Given the description of an element on the screen output the (x, y) to click on. 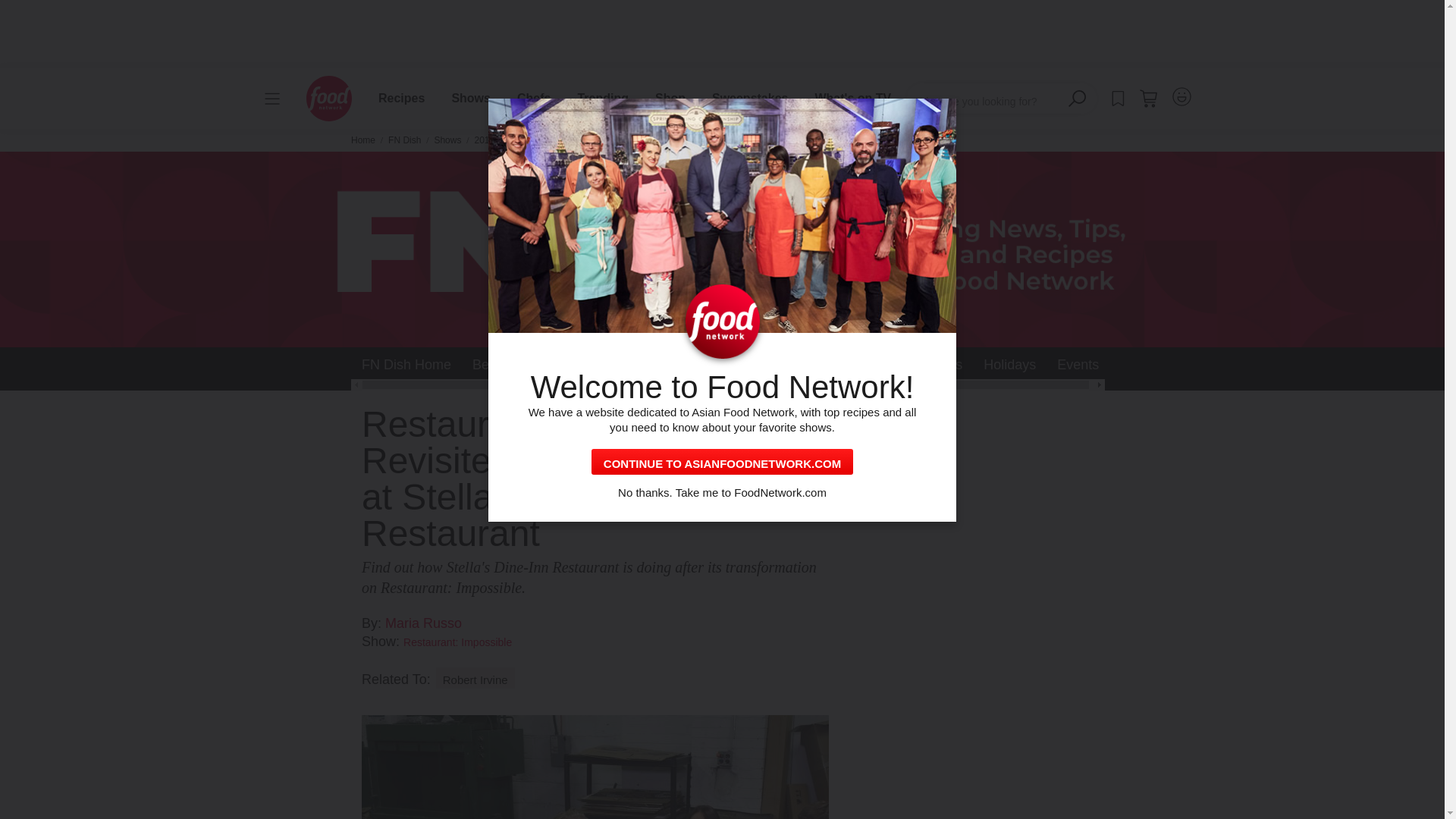
home (328, 98)
Shows (470, 97)
3rd party ad content (727, 33)
Recipes (401, 97)
